Given the description of an element on the screen output the (x, y) to click on. 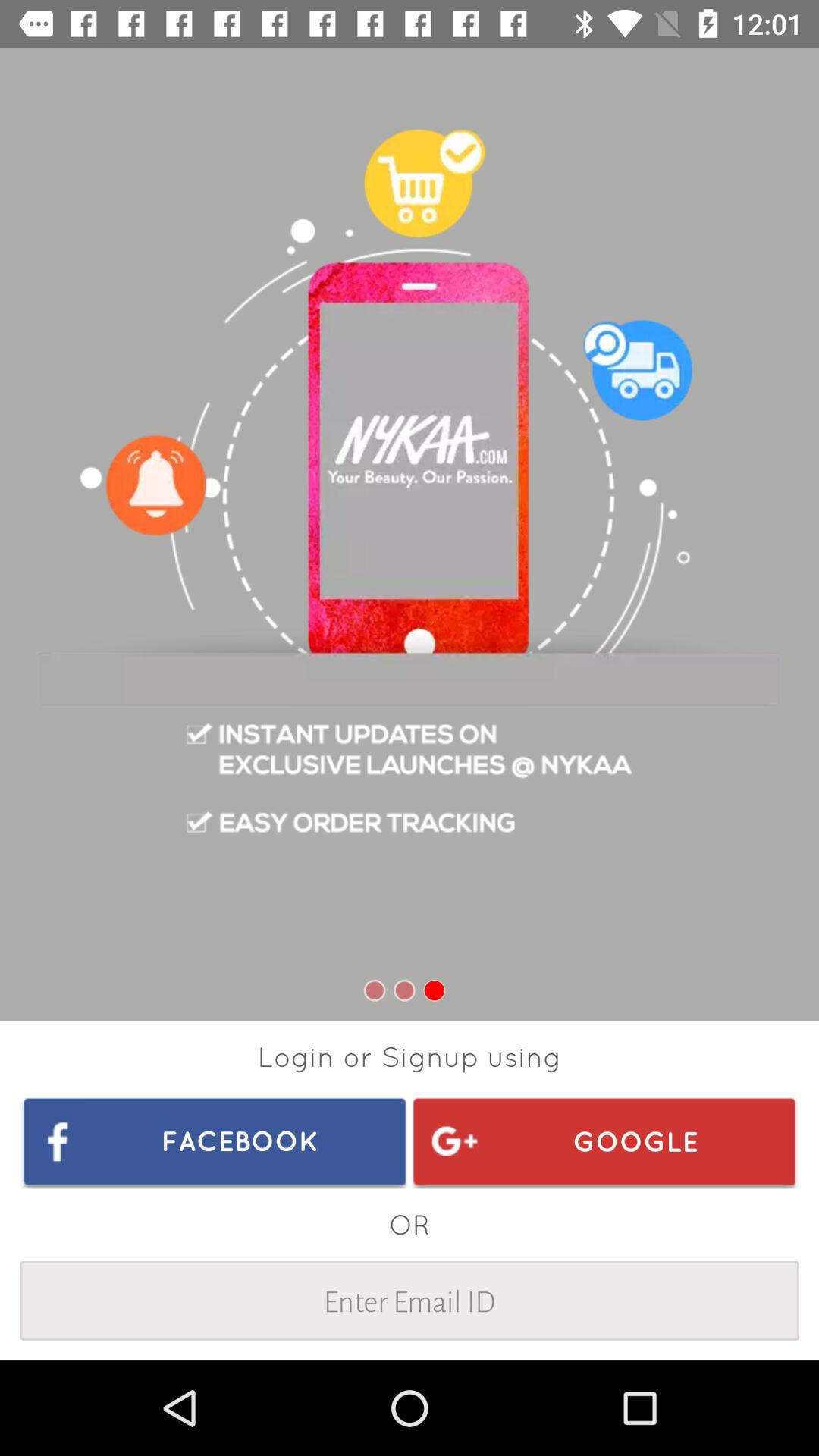
select the item below login or signup (604, 1140)
